Given the description of an element on the screen output the (x, y) to click on. 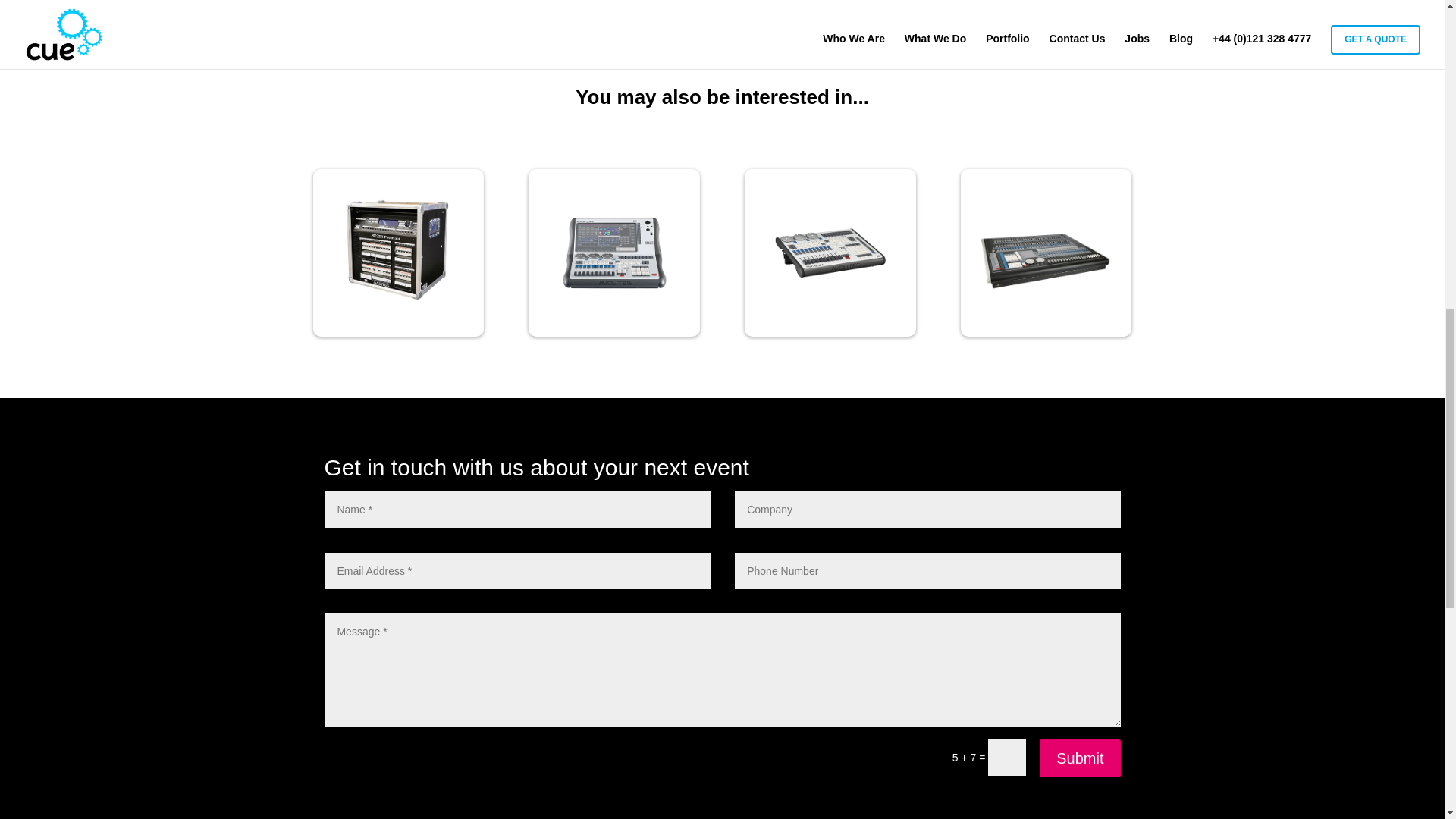
Submit (1079, 758)
Minimum length: 11 characters.  (927, 570)
